Given the description of an element on the screen output the (x, y) to click on. 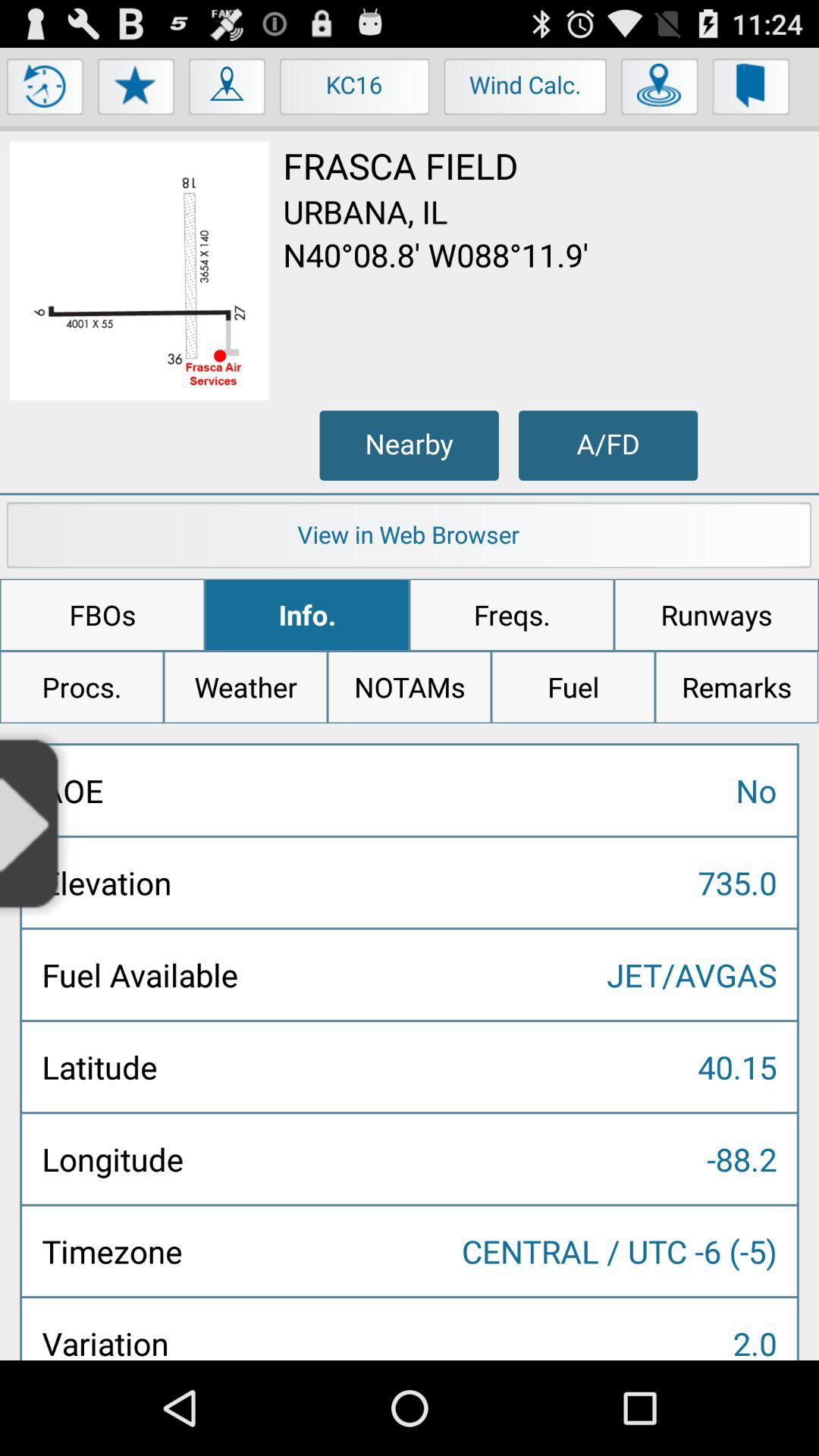
click app above the fbos app (409, 538)
